Given the description of an element on the screen output the (x, y) to click on. 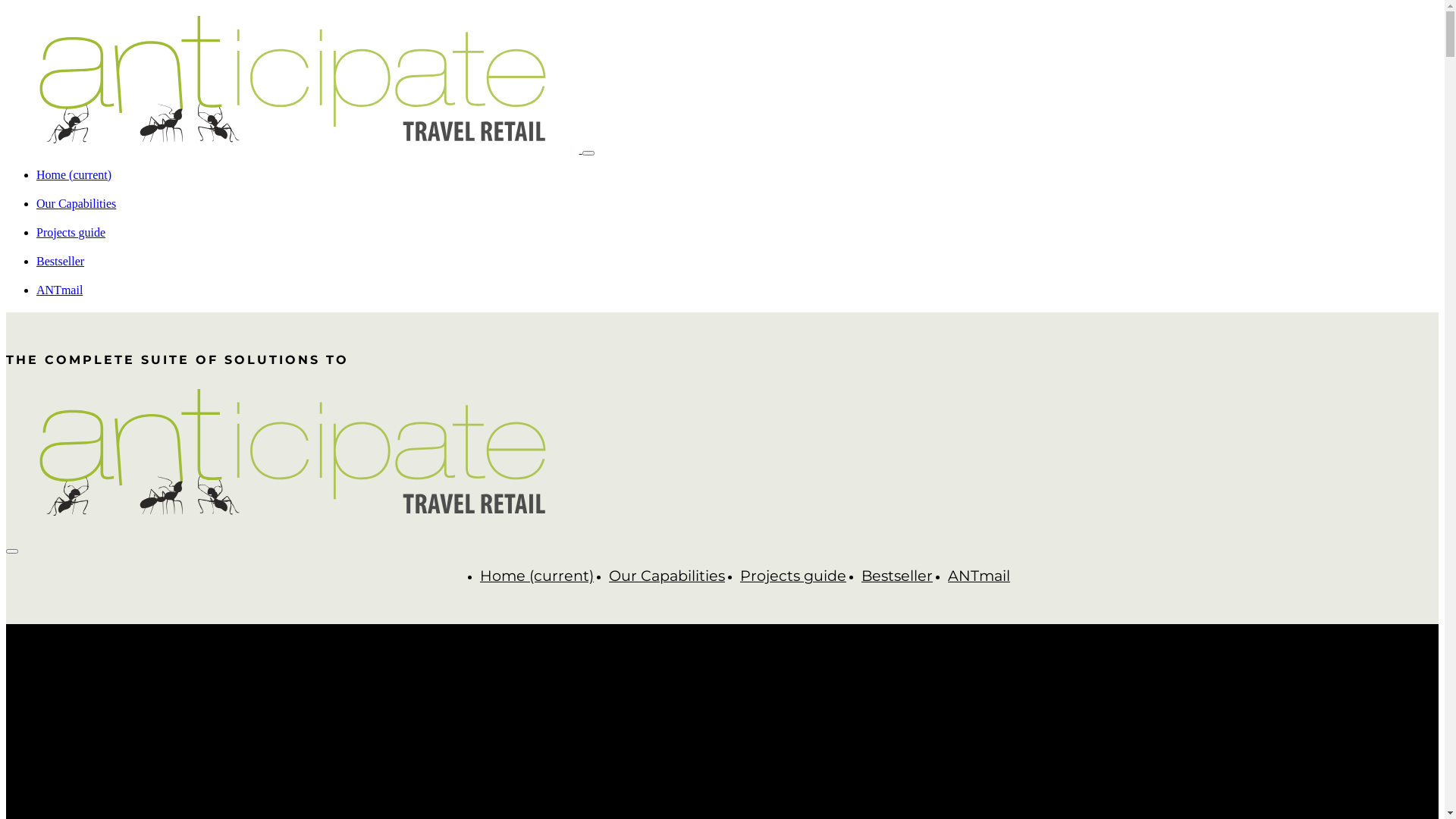
ANTmail Element type: text (978, 575)
Our Capabilities Element type: text (666, 575)
Our Capabilities Element type: text (76, 203)
Home (current) Element type: text (536, 575)
Bestseller Element type: text (896, 575)
Bestseller Element type: text (60, 260)
Home (current) Element type: text (73, 174)
Projects guide Element type: text (793, 575)
ANTmail Element type: text (59, 289)
Projects guide Element type: text (70, 231)
